Given the description of an element on the screen output the (x, y) to click on. 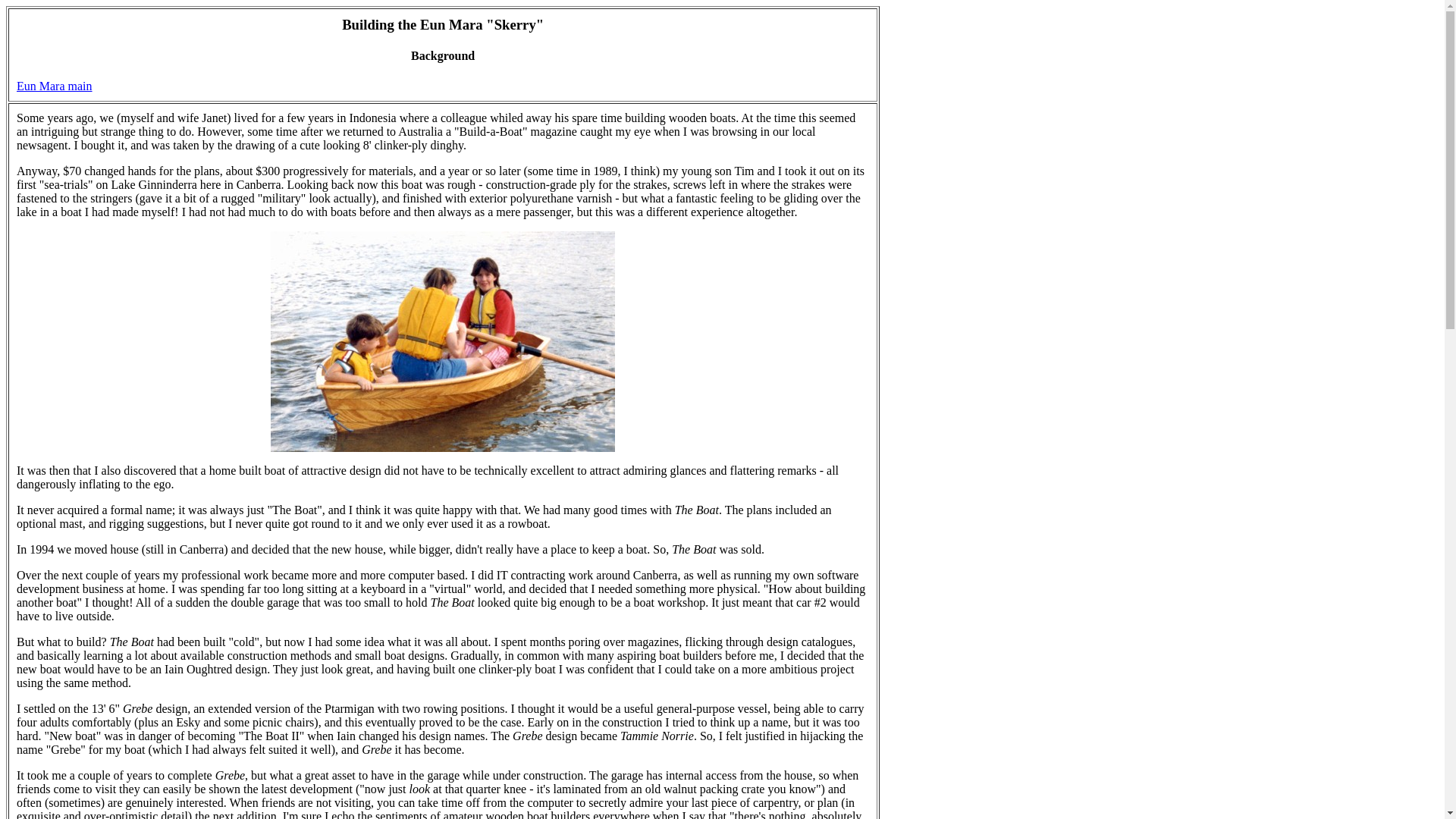
Eun Mara main Element type: text (54, 85)
